Given the description of an element on the screen output the (x, y) to click on. 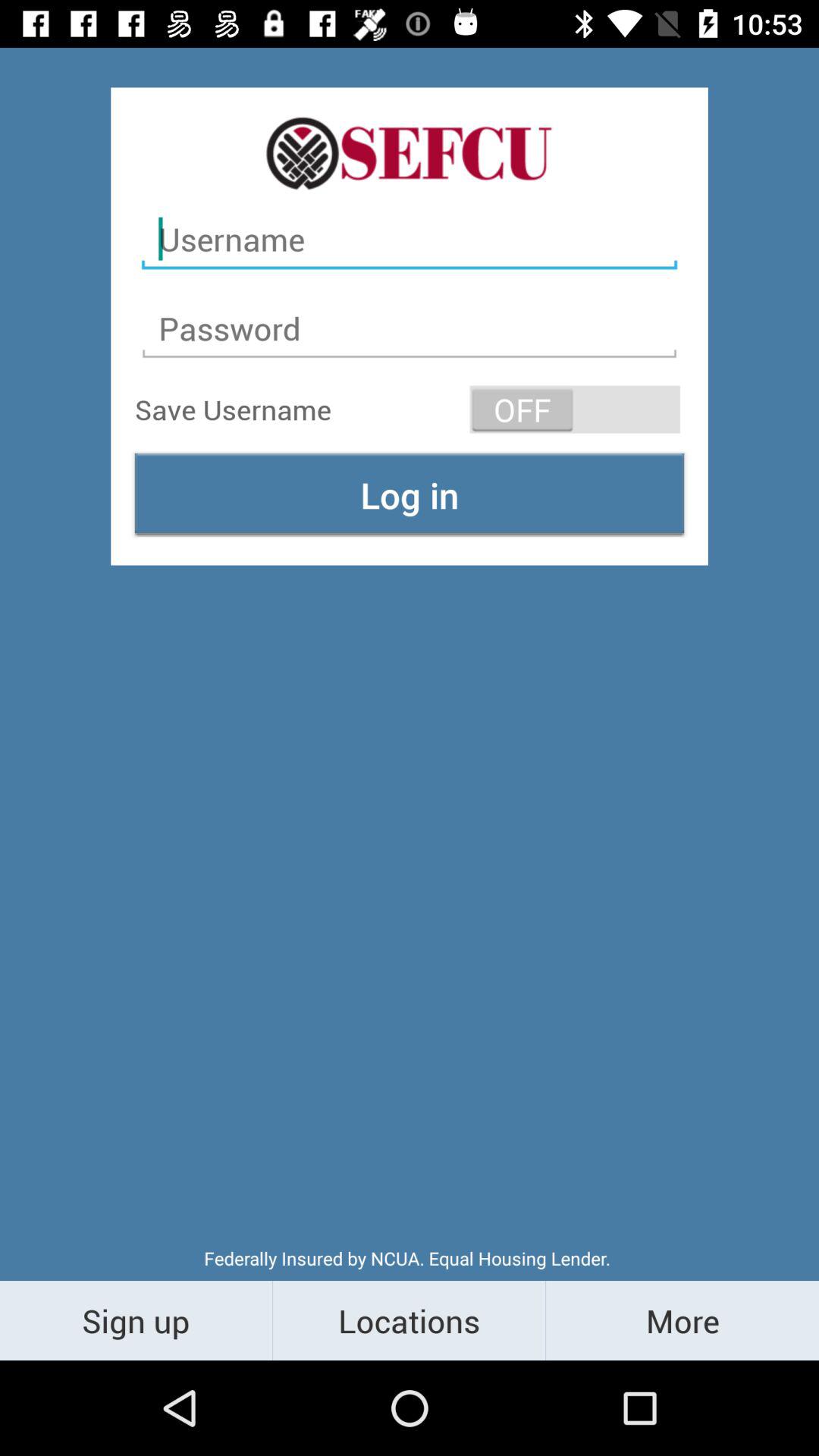
choose item to the right of save username item (574, 409)
